Given the description of an element on the screen output the (x, y) to click on. 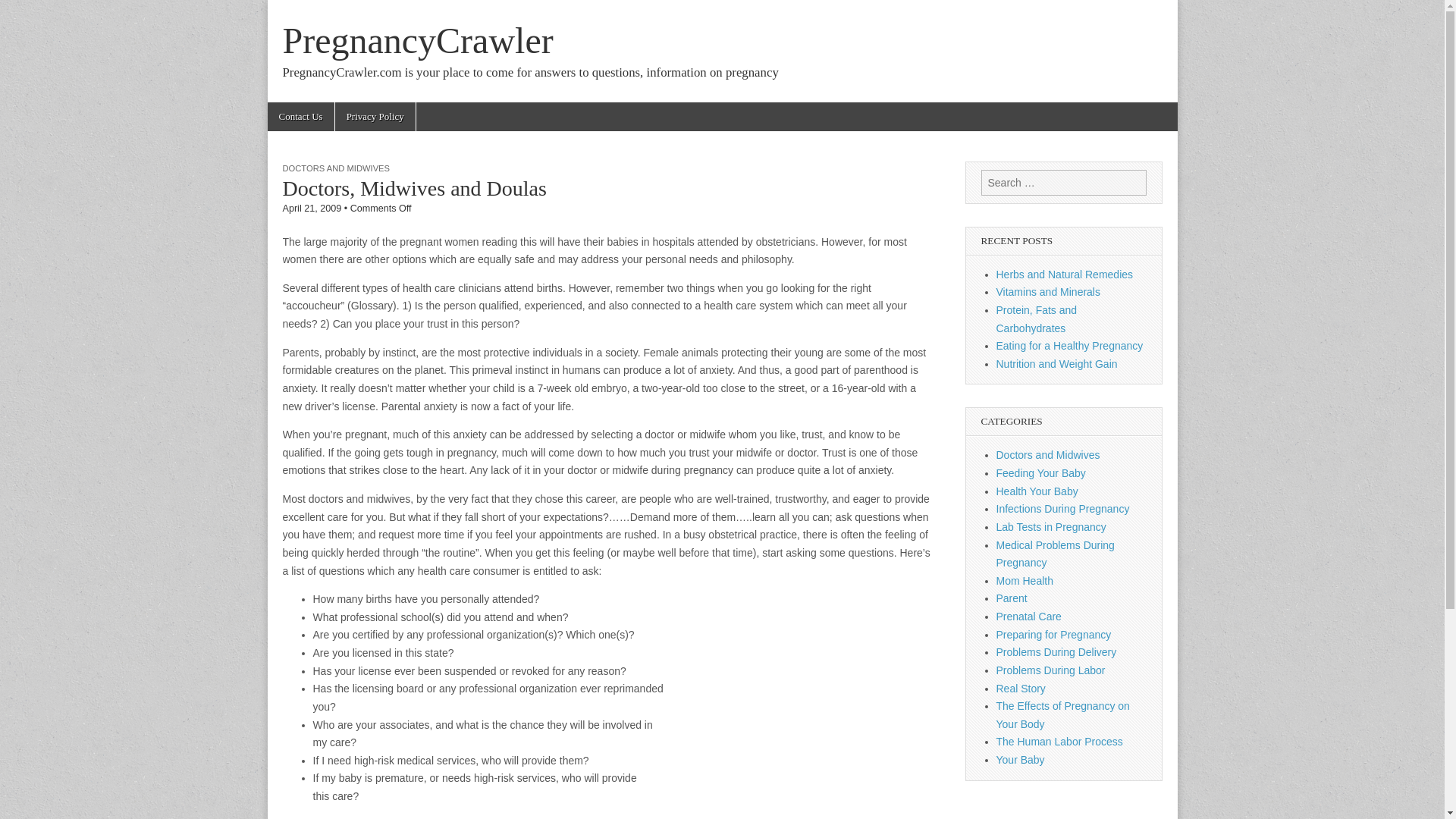
Health Your Baby (1036, 491)
Problems During Labor (1050, 670)
DOCTORS AND MIDWIVES (336, 167)
Doctors and Midwives (1047, 454)
Problems During Delivery (1055, 652)
Eating for a Healthy Pregnancy (1068, 345)
PregnancyCrawler (417, 40)
PregnancyCrawler (417, 40)
Herbs and Natural Remedies (1064, 274)
Privacy Policy (374, 116)
Real Story (1020, 688)
Infections During Pregnancy (1062, 508)
Parent (1011, 598)
Mom Health (1023, 580)
